Given the description of an element on the screen output the (x, y) to click on. 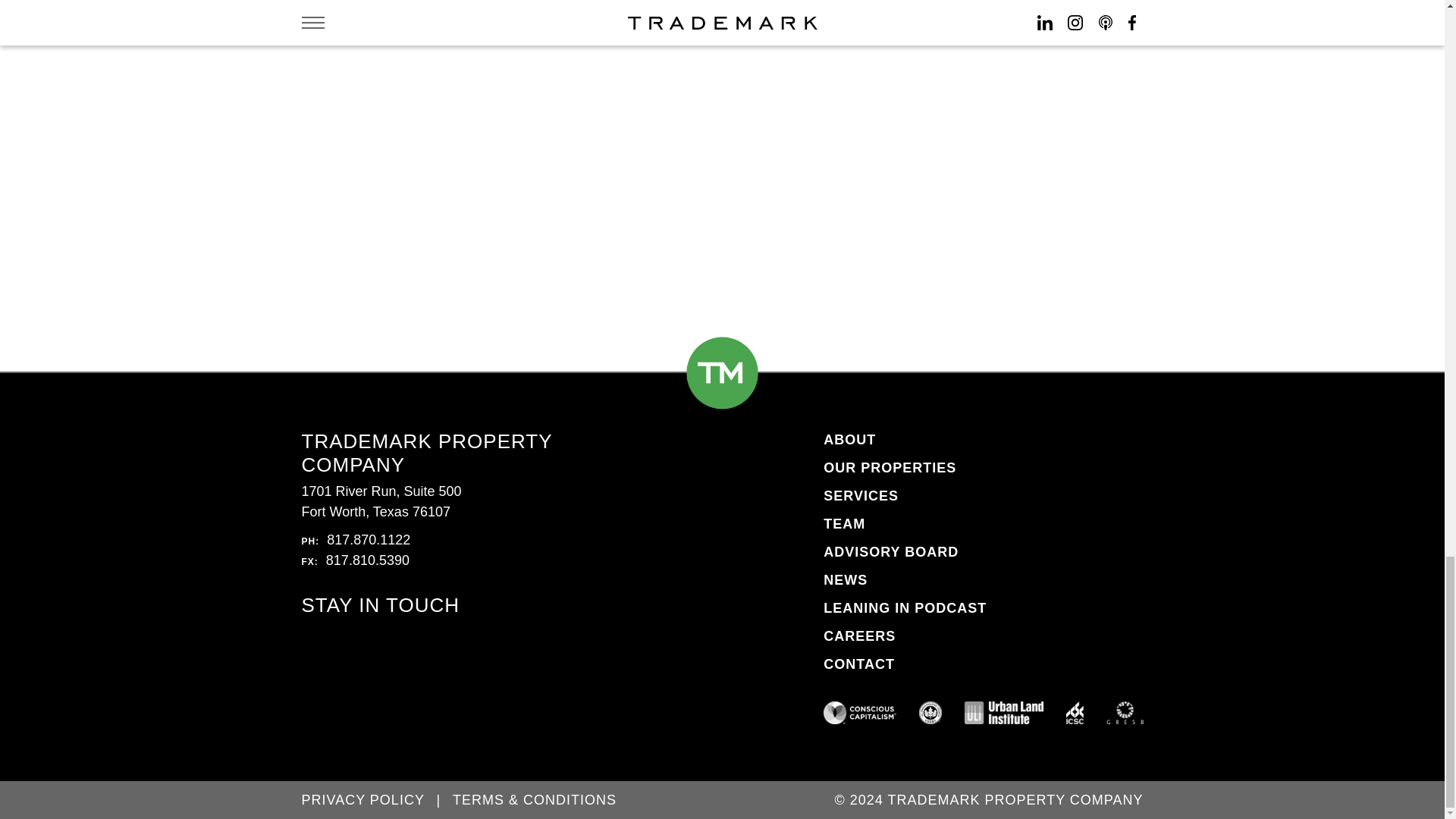
ABOUT (850, 439)
OUR PROPERTIES (890, 467)
SERVICES (861, 495)
CAREERS (859, 635)
CONTACT (859, 663)
TEAM (844, 523)
NEWS (845, 580)
ADVISORY BOARD (891, 551)
LEANING IN PODCAST (905, 607)
817.870.1122 (368, 539)
